Given the description of an element on the screen output the (x, y) to click on. 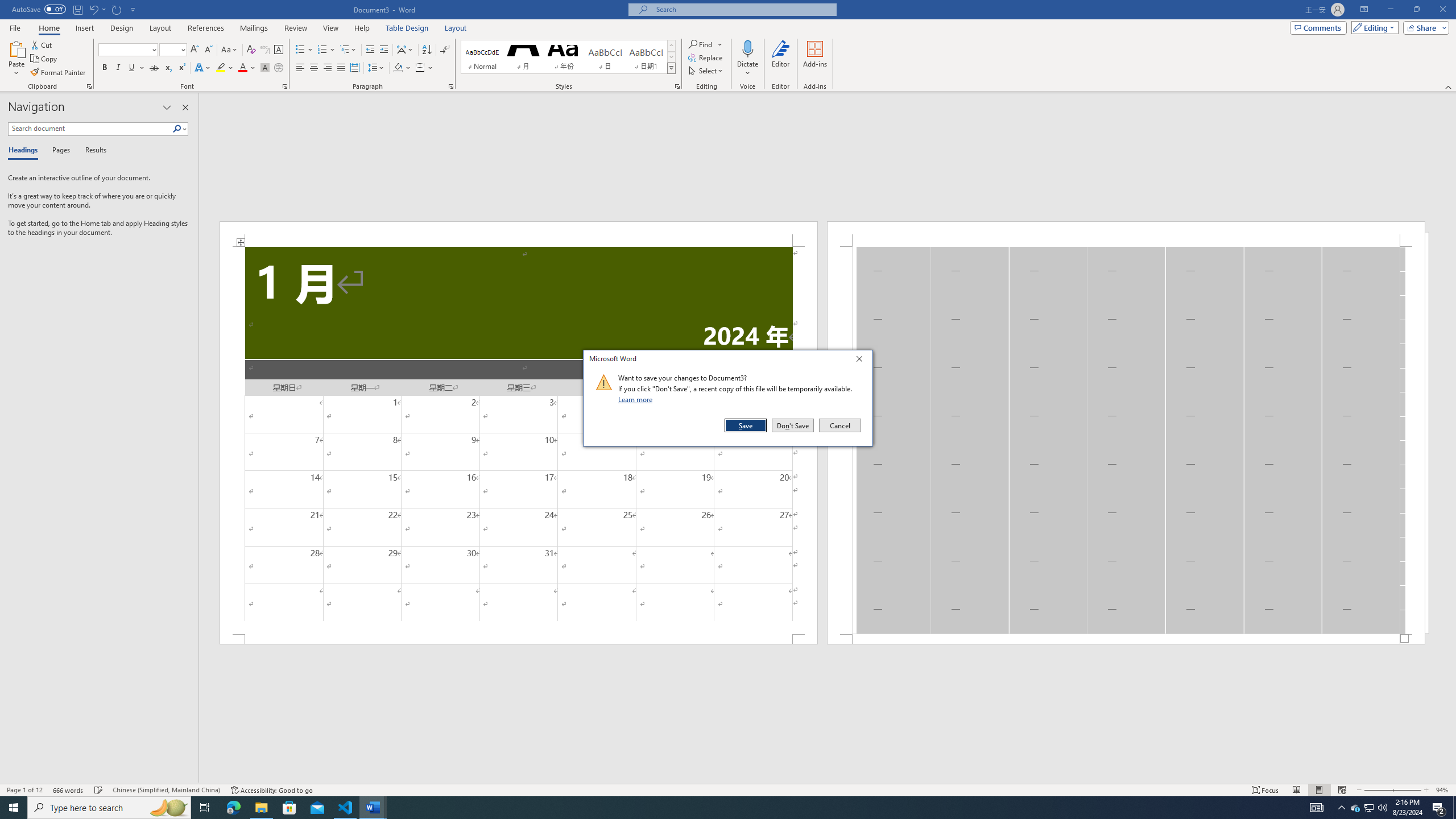
Page Number Page 1 of 12 (24, 790)
Word Count 666 words (68, 790)
